Given the description of an element on the screen output the (x, y) to click on. 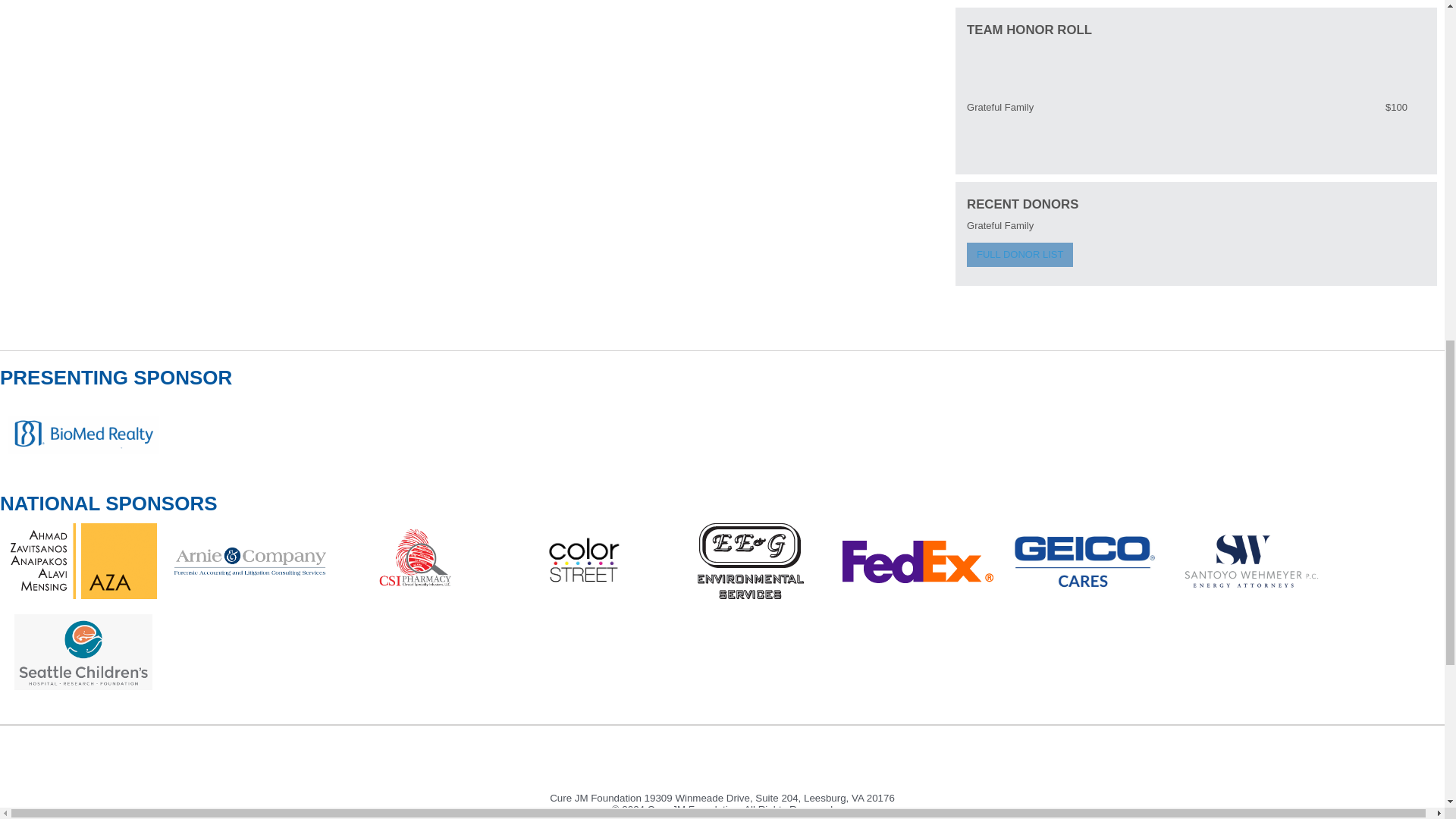
FULL DONOR LIST (1019, 254)
